Given the description of an element on the screen output the (x, y) to click on. 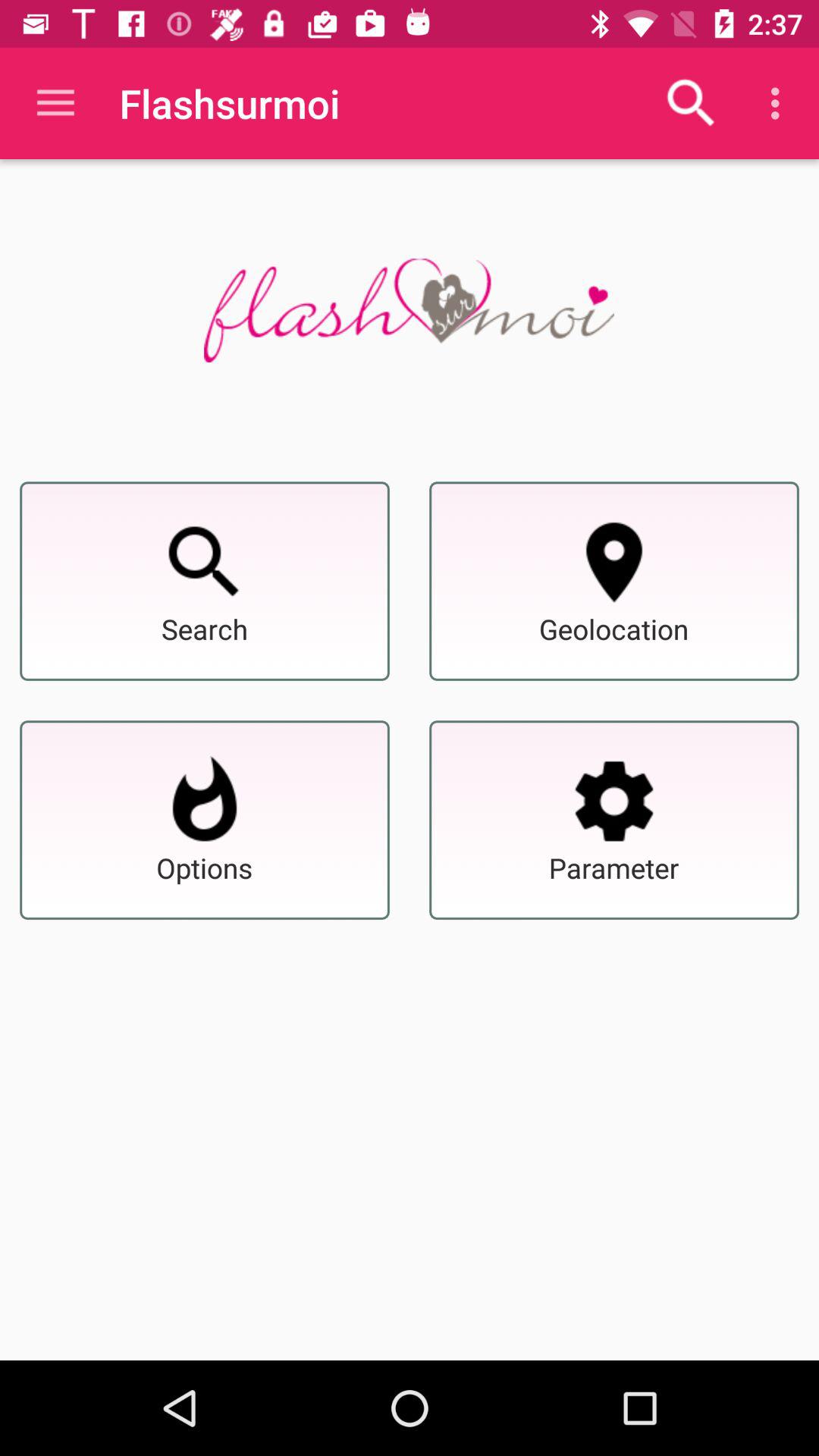
open settings (614, 801)
